Given the description of an element on the screen output the (x, y) to click on. 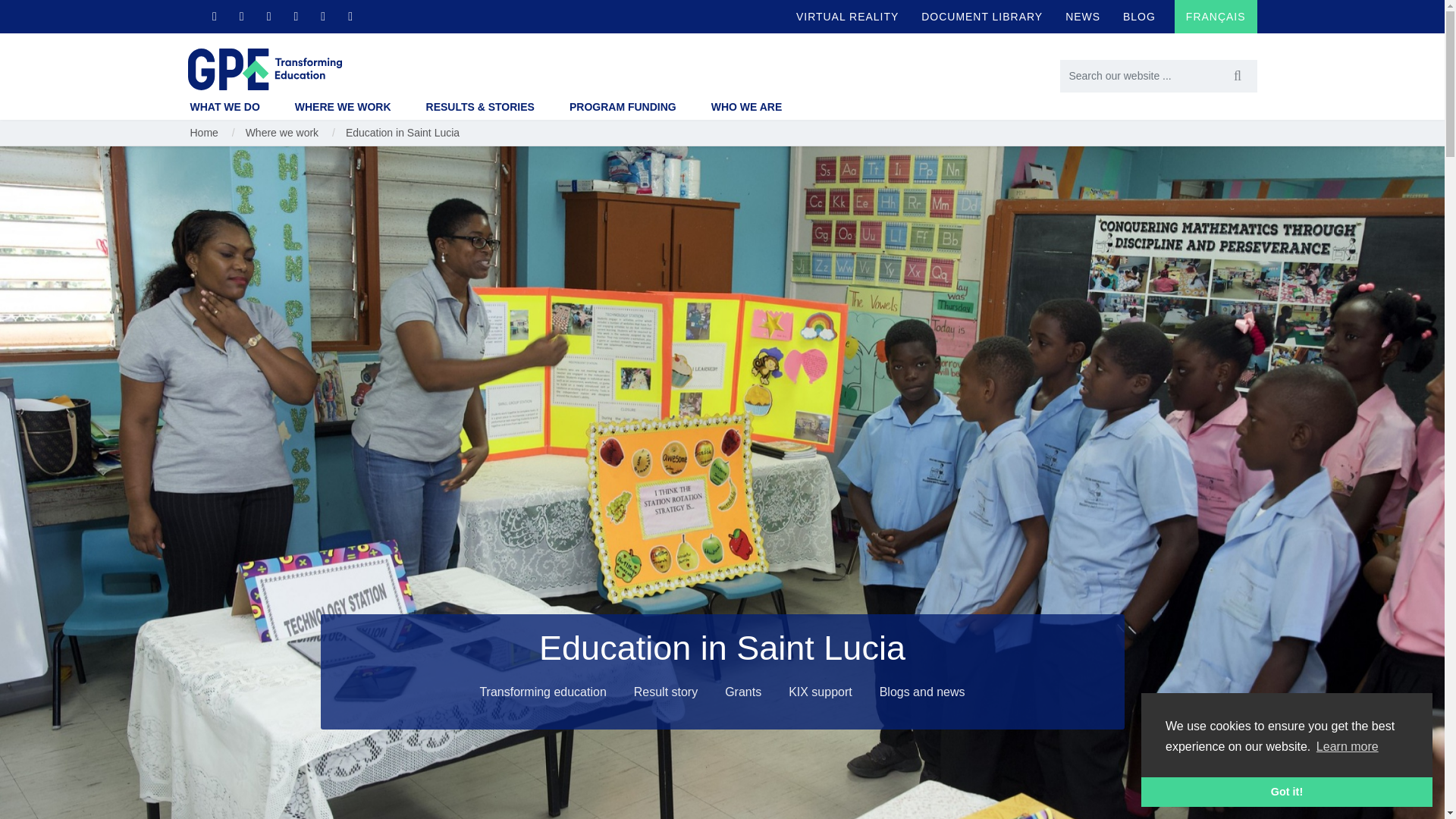
Learn more (1347, 746)
Anchor link to: KIX support (820, 691)
Got it! (1286, 791)
Home (264, 69)
Anchor link to: Blogs and news (922, 691)
Anchor link to: Transforming education (542, 691)
Anchor link to: Result story (665, 691)
Anchor link to: Grants (742, 691)
